Given the description of an element on the screen output the (x, y) to click on. 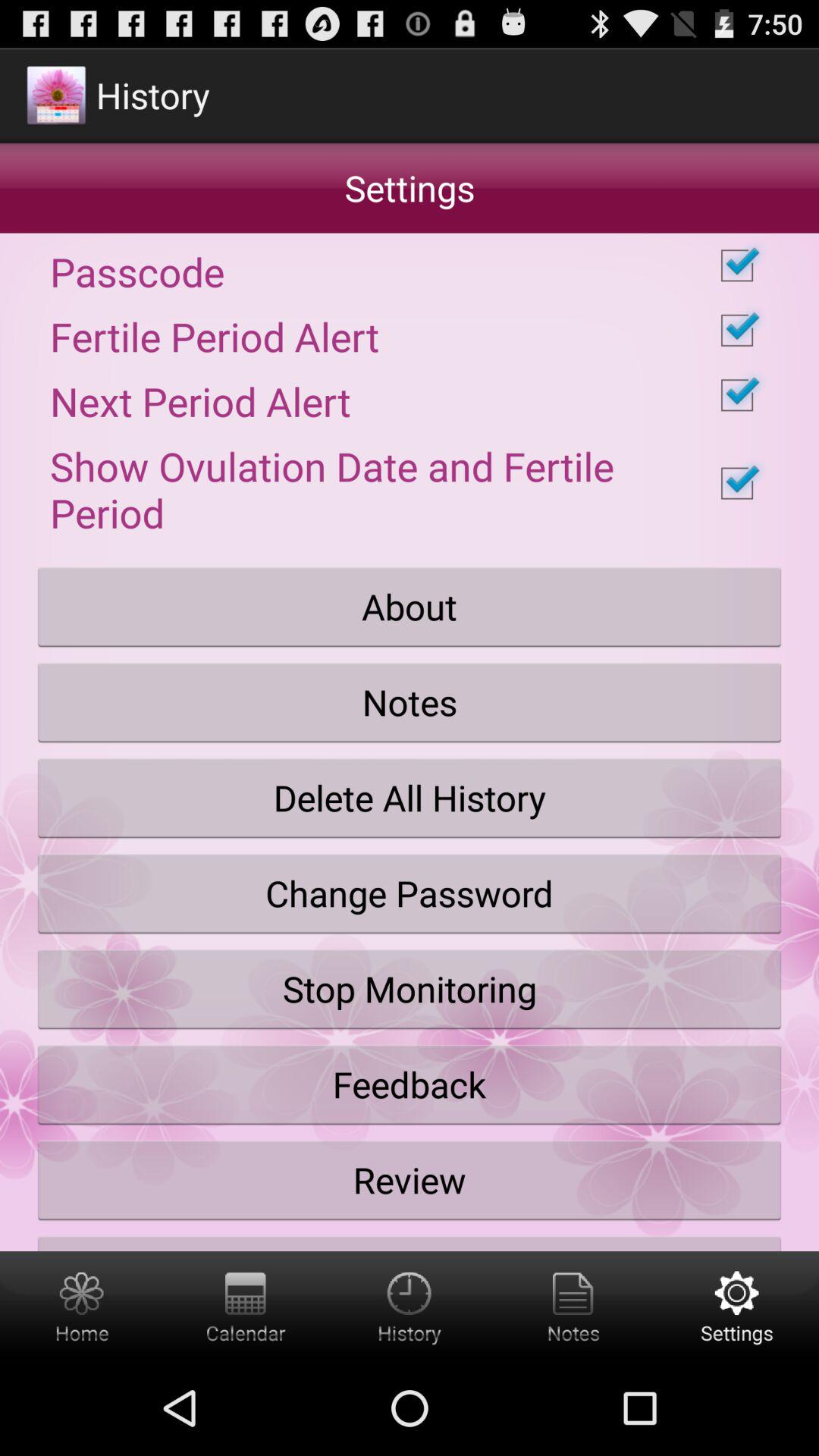
view settings (737, 1305)
